Given the description of an element on the screen output the (x, y) to click on. 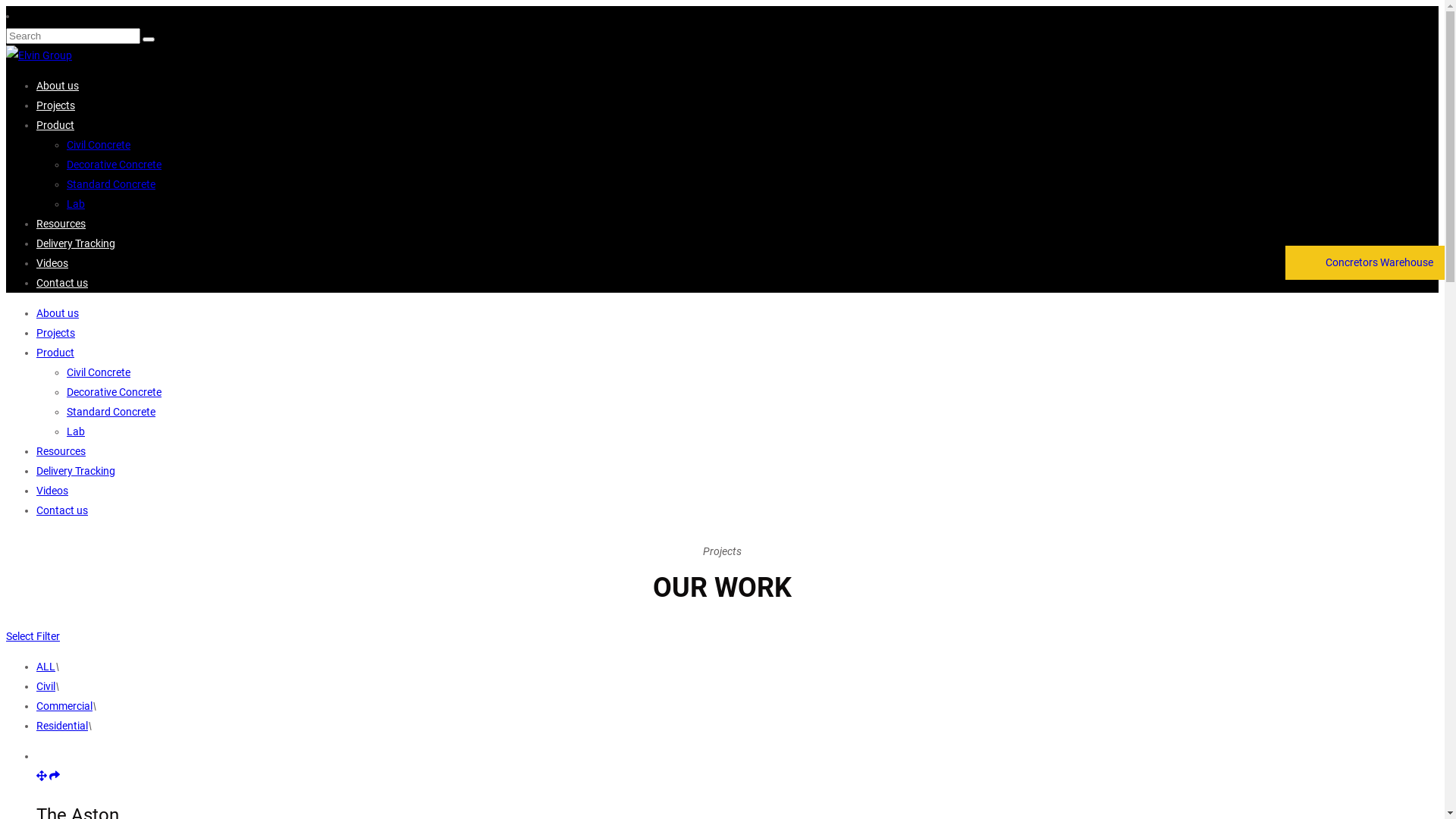
Product Element type: text (55, 125)
Civil Concrete Element type: text (98, 144)
Commercial Element type: text (64, 705)
Lab Element type: text (75, 203)
Product Element type: text (55, 352)
Delivery Tracking Element type: text (75, 470)
Videos Element type: text (52, 263)
Decorative Concrete Element type: text (113, 164)
Projects Element type: text (55, 332)
Standard Concrete Element type: text (110, 184)
Lab Element type: text (75, 431)
Videos Element type: text (52, 490)
About us Element type: text (57, 313)
Residential Element type: text (61, 725)
About us Element type: text (57, 85)
Civil Concrete Element type: text (98, 372)
Concretors Warehouse Element type: text (1364, 262)
Delivery Tracking Element type: text (75, 243)
Select Filter Element type: text (32, 636)
Decorative Concrete Element type: text (113, 391)
Contact us Element type: text (61, 510)
ALL Element type: text (45, 666)
Projects Element type: text (55, 105)
Civil Element type: text (45, 686)
Standard Concrete Element type: text (110, 411)
Resources Element type: text (60, 451)
Resources Element type: text (60, 223)
Contact us Element type: text (61, 282)
